Given the description of an element on the screen output the (x, y) to click on. 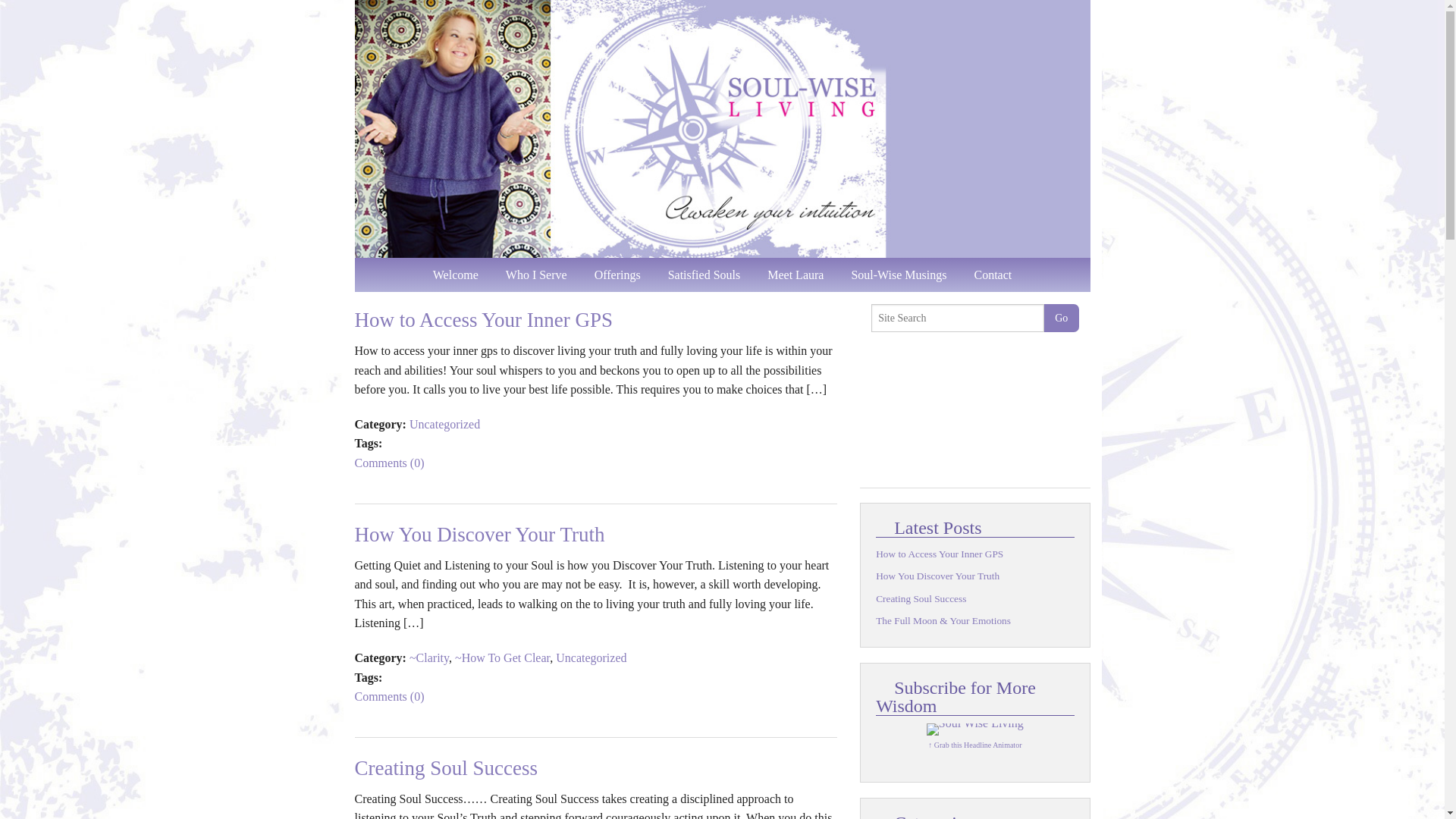
Contact (992, 274)
How You Discover Your Truth (480, 534)
Meet Laura (795, 274)
Offerings (617, 274)
How to Access Your Inner GPS (483, 319)
Uncategorized (444, 423)
Satisfied Souls (704, 274)
Welcome (455, 274)
Who I Serve (536, 274)
Soul-Wise Musings (898, 274)
